Given the description of an element on the screen output the (x, y) to click on. 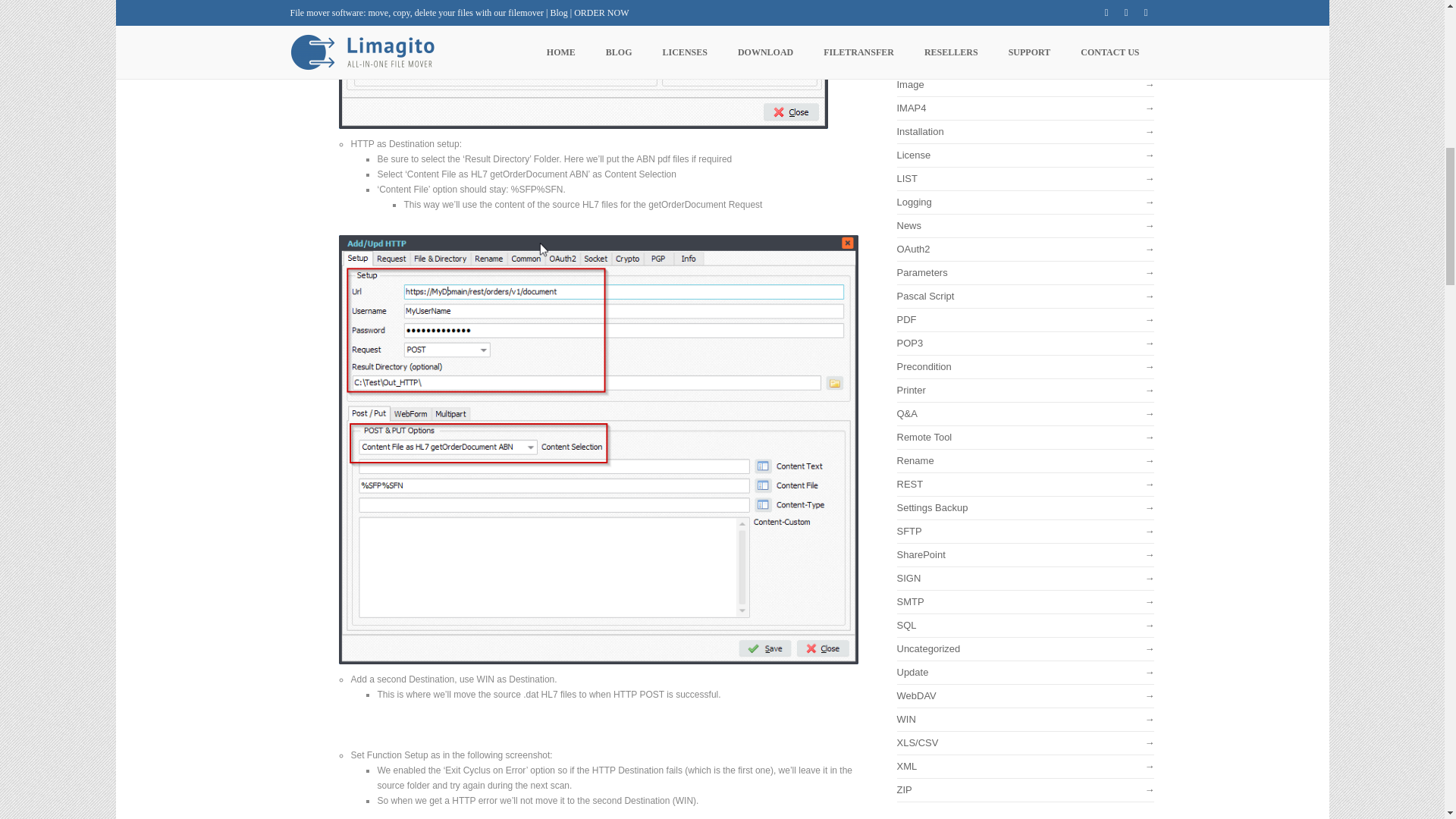
Blog articles related to SFTP (1025, 533)
